Given the description of an element on the screen output the (x, y) to click on. 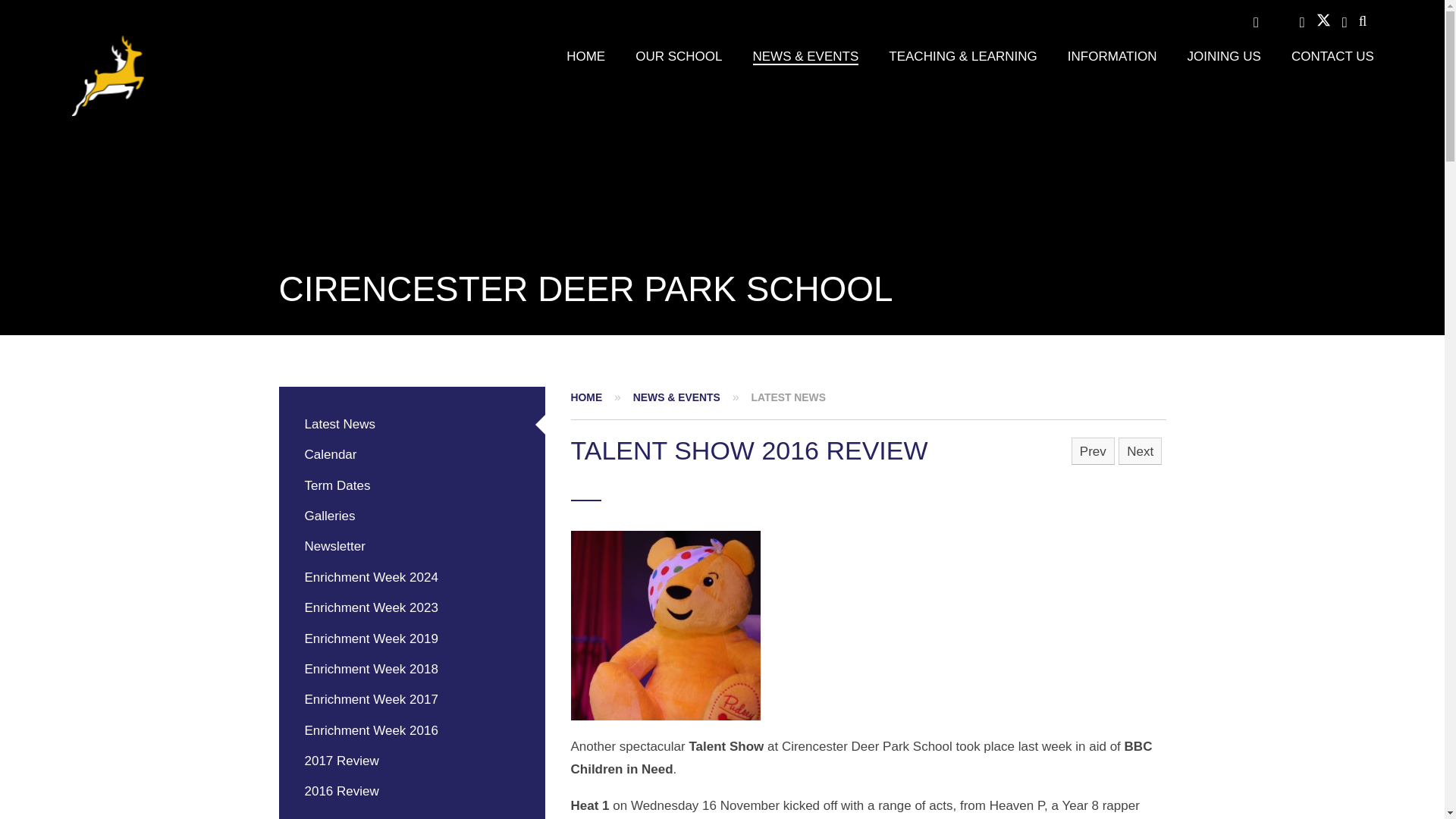
OUR SCHOOL (678, 56)
HOME (585, 56)
